Given the description of an element on the screen output the (x, y) to click on. 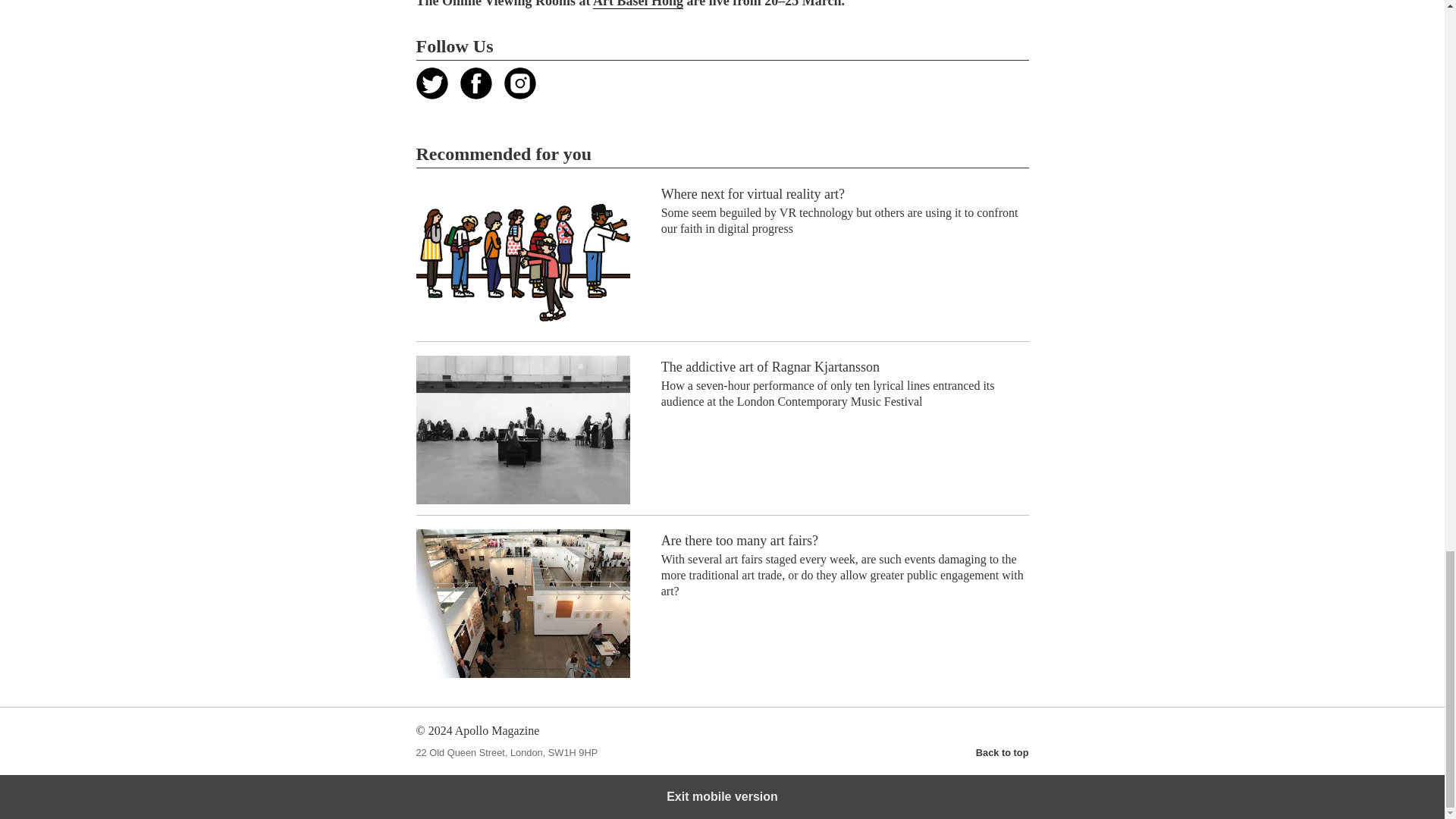
Back to top (1002, 752)
Art Basel Hong (637, 4)
